Given the description of an element on the screen output the (x, y) to click on. 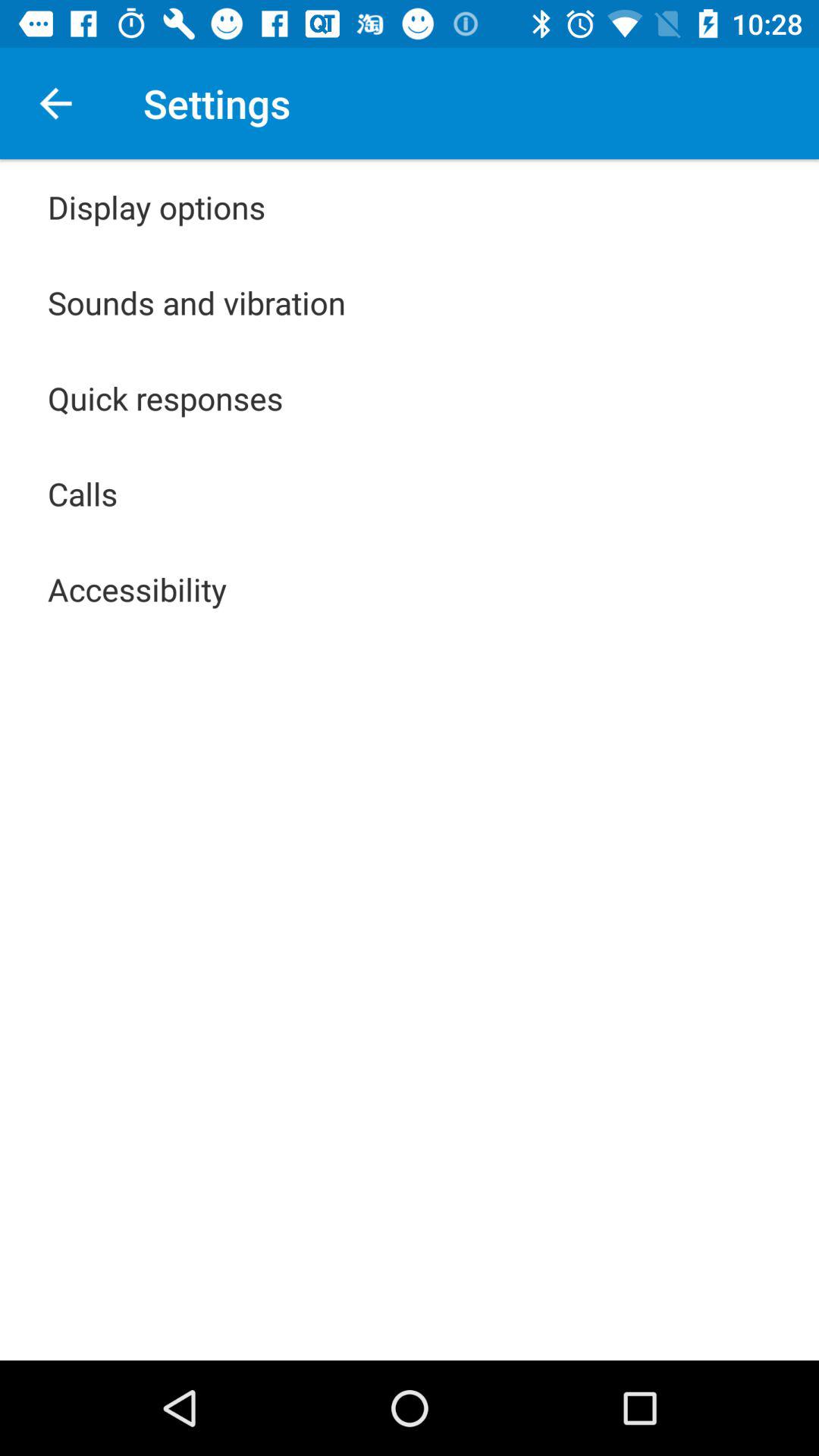
open icon above the display options item (55, 103)
